Given the description of an element on the screen output the (x, y) to click on. 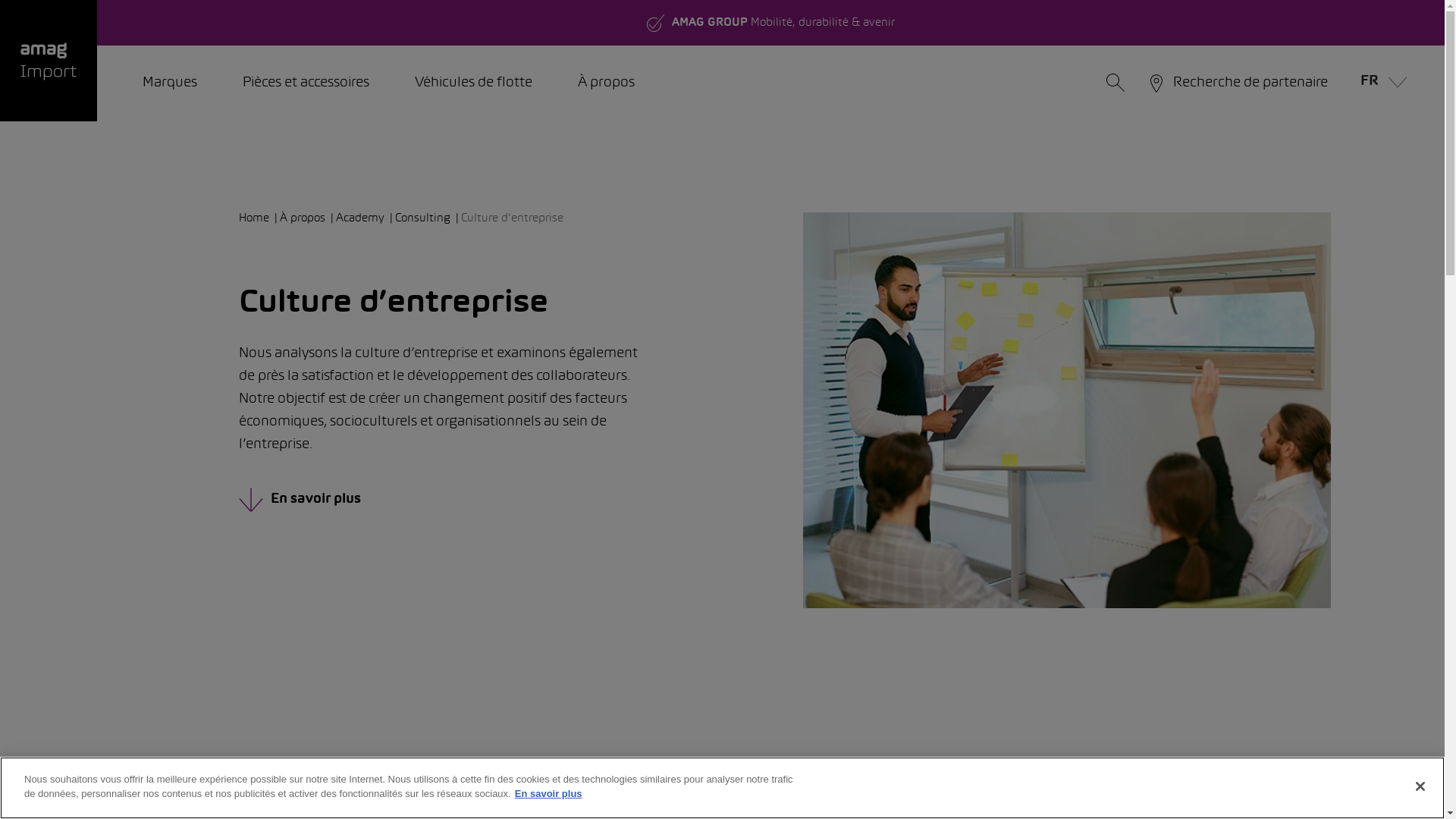
En savoir plus Element type: text (548, 793)
Consulting Element type: text (428, 218)
Marques Element type: text (169, 83)
FR Element type: text (1379, 83)
En savoir plus Element type: text (480, 499)
Academy Element type: text (365, 218)
Recherche de partenaire Element type: text (1237, 83)
Home Element type: text (258, 218)
